Given the description of an element on the screen output the (x, y) to click on. 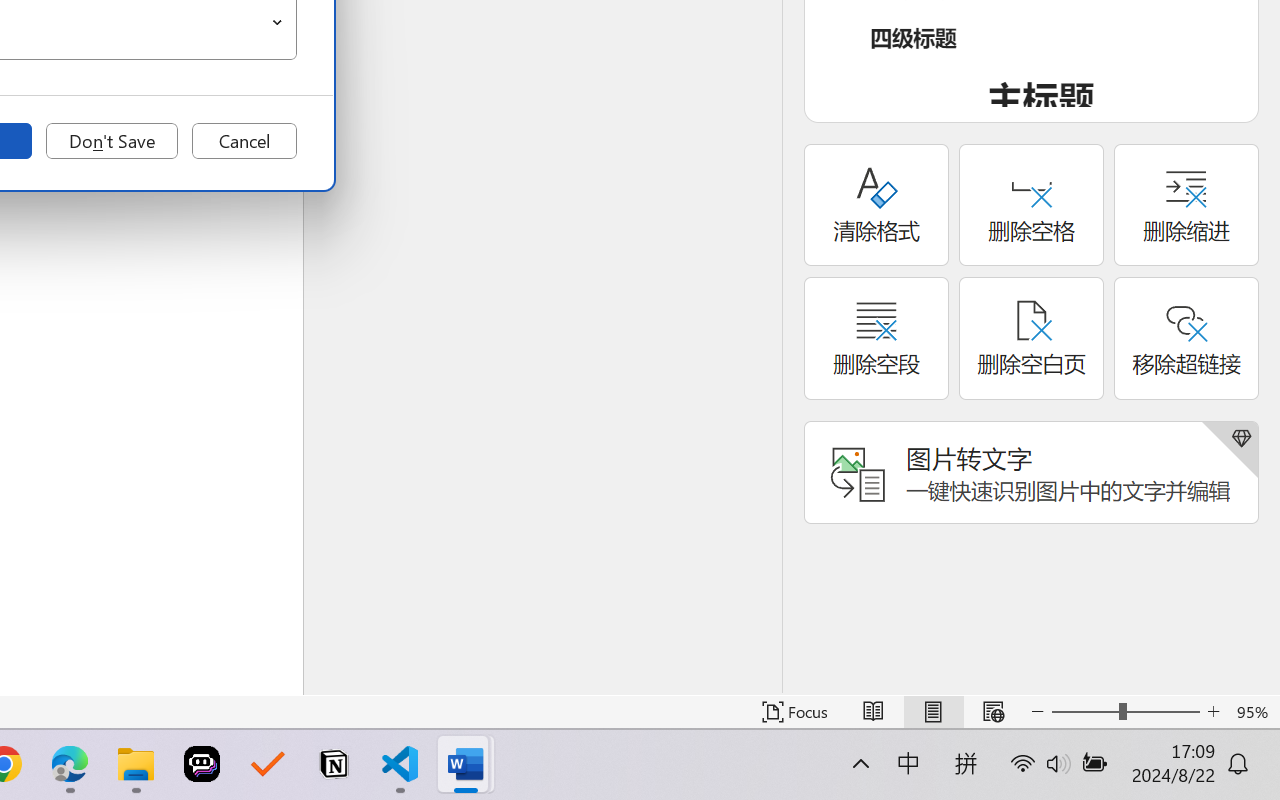
Zoom 95% (1253, 712)
